Given the description of an element on the screen output the (x, y) to click on. 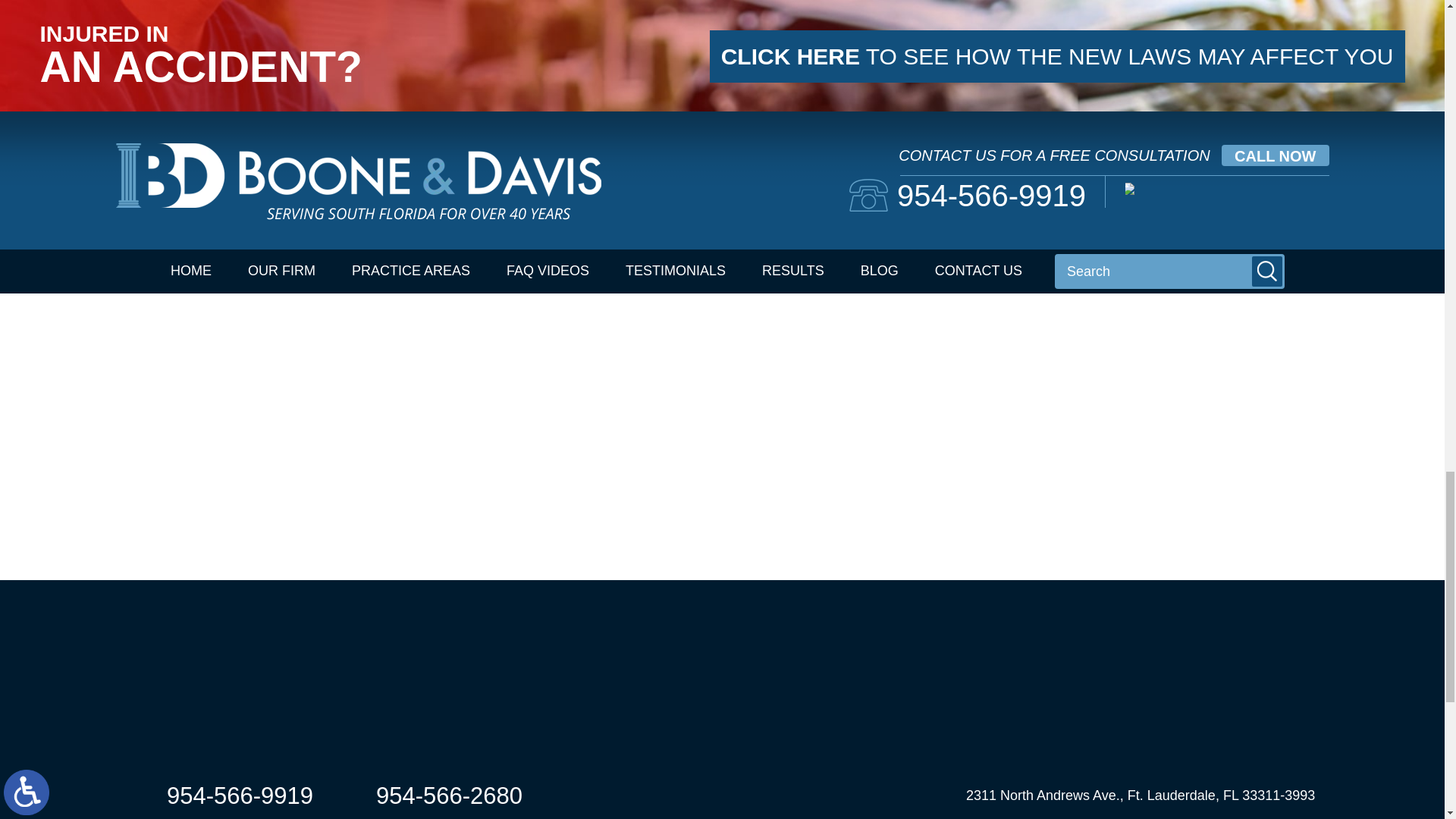
Facebook (139, 196)
2020-12-26T04:51:46-0800 (337, 227)
LinkedIn (160, 196)
Twitter (149, 196)
